Given the description of an element on the screen output the (x, y) to click on. 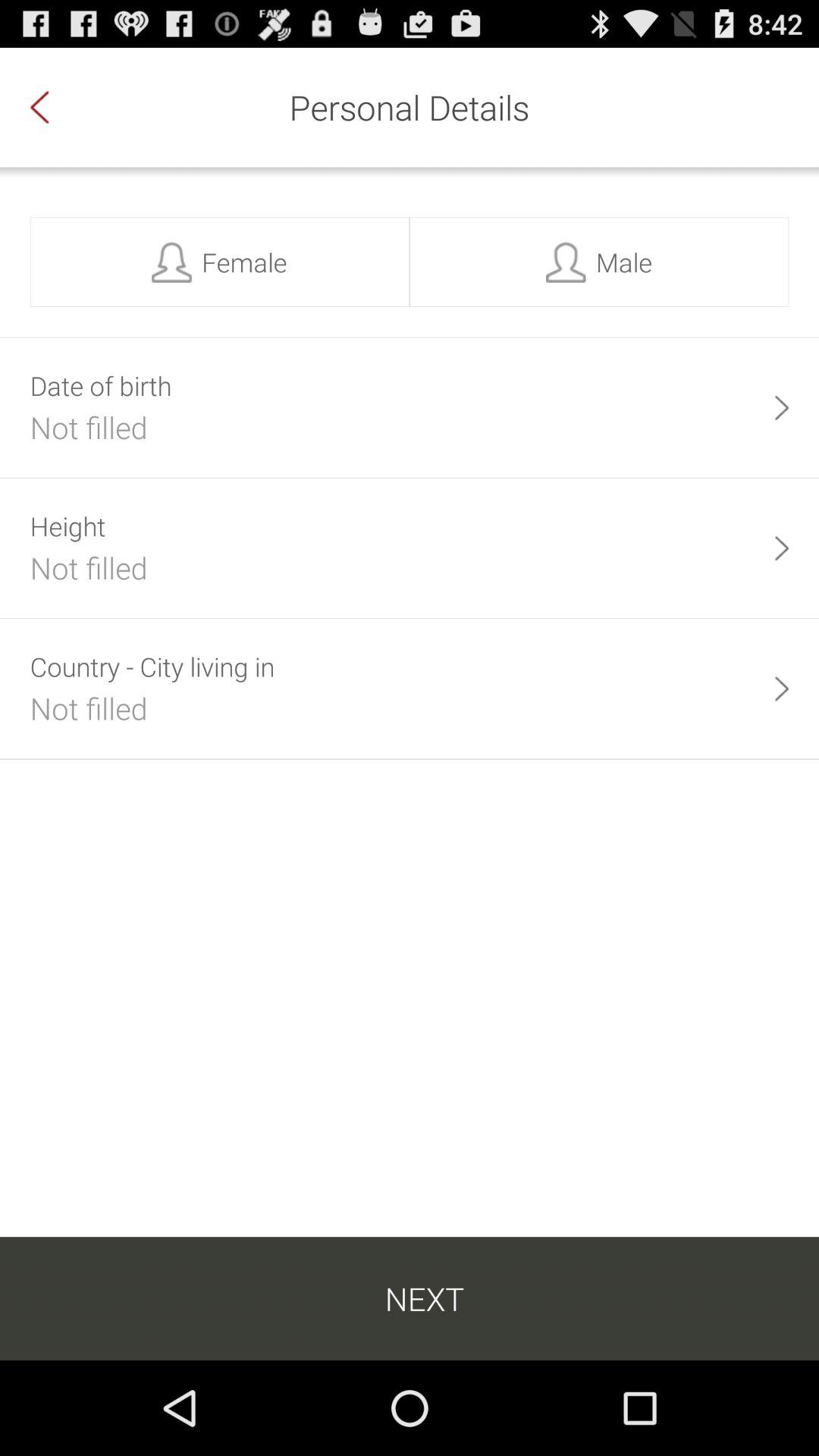
launch the item next to the date of birth icon (781, 407)
